Given the description of an element on the screen output the (x, y) to click on. 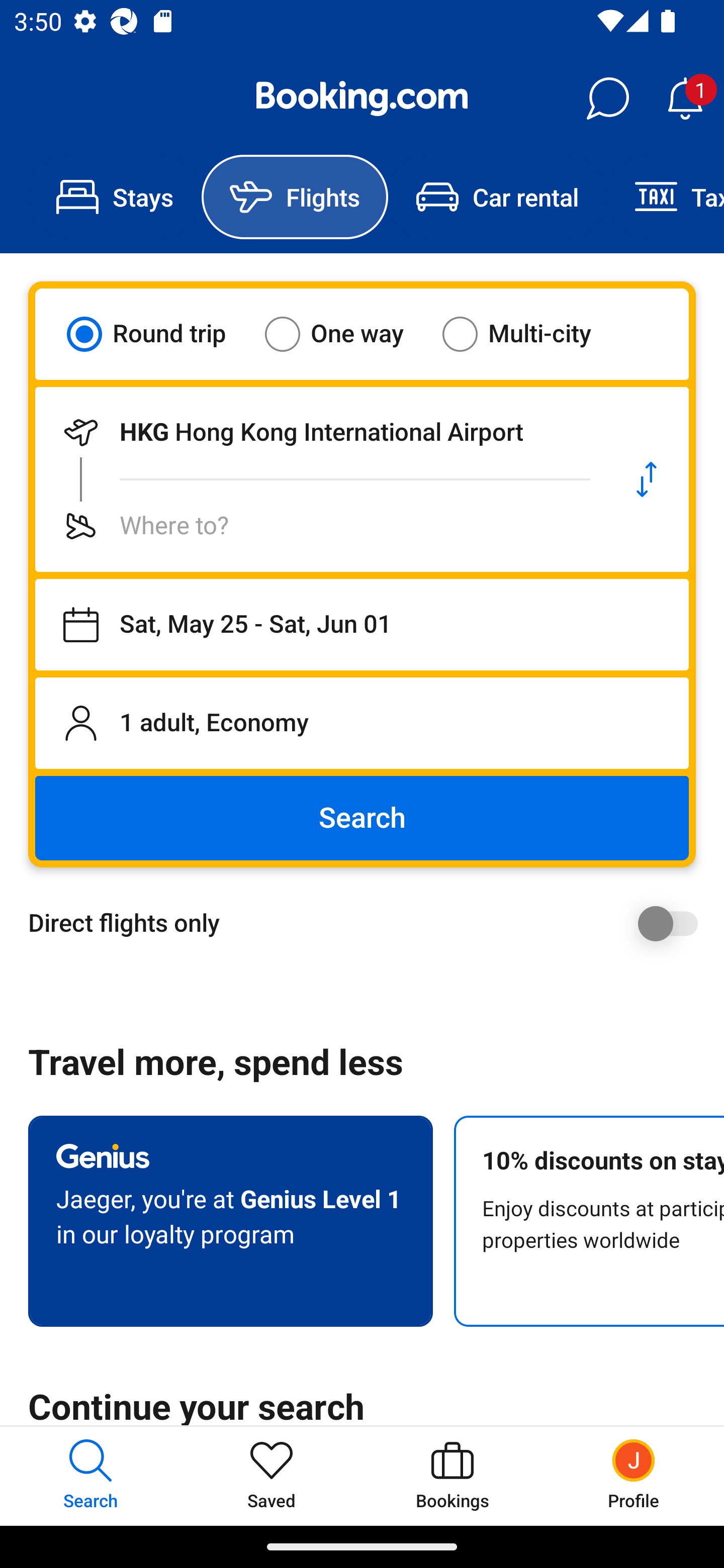
Messages (607, 98)
Notifications (685, 98)
Stays (114, 197)
Flights (294, 197)
Car rental (497, 197)
Taxi (665, 197)
One way (346, 333)
Multi-city (528, 333)
Departing from HKG Hong Kong International Airport (319, 432)
Swap departure location and destination (646, 479)
Flying to  (319, 525)
Departing on Sat, May 25, returning on Sat, Jun 01 (361, 624)
1 adult, Economy (361, 722)
Search (361, 818)
Direct flights only (369, 923)
Saved (271, 1475)
Bookings (452, 1475)
Profile (633, 1475)
